Given the description of an element on the screen output the (x, y) to click on. 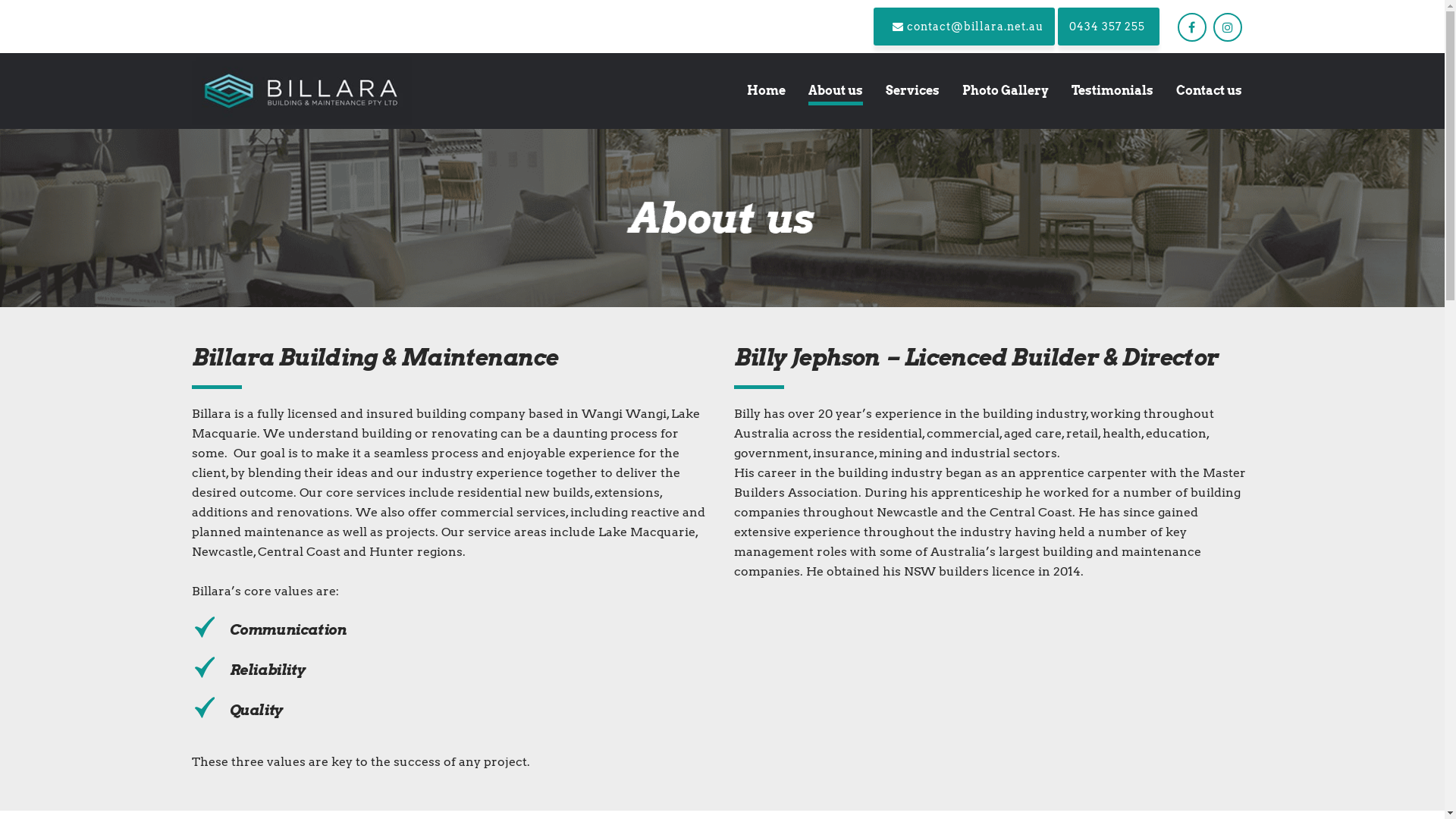
Services Element type: text (911, 90)
0434 357 255  Element type: text (1107, 26)
Home Element type: text (766, 90)
About us Element type: text (834, 90)
Contact us Element type: text (1208, 90)
contact@billara.net.au Element type: text (963, 26)
Testimonials Element type: text (1112, 90)
Photo Gallery Element type: text (1005, 90)
